Given the description of an element on the screen output the (x, y) to click on. 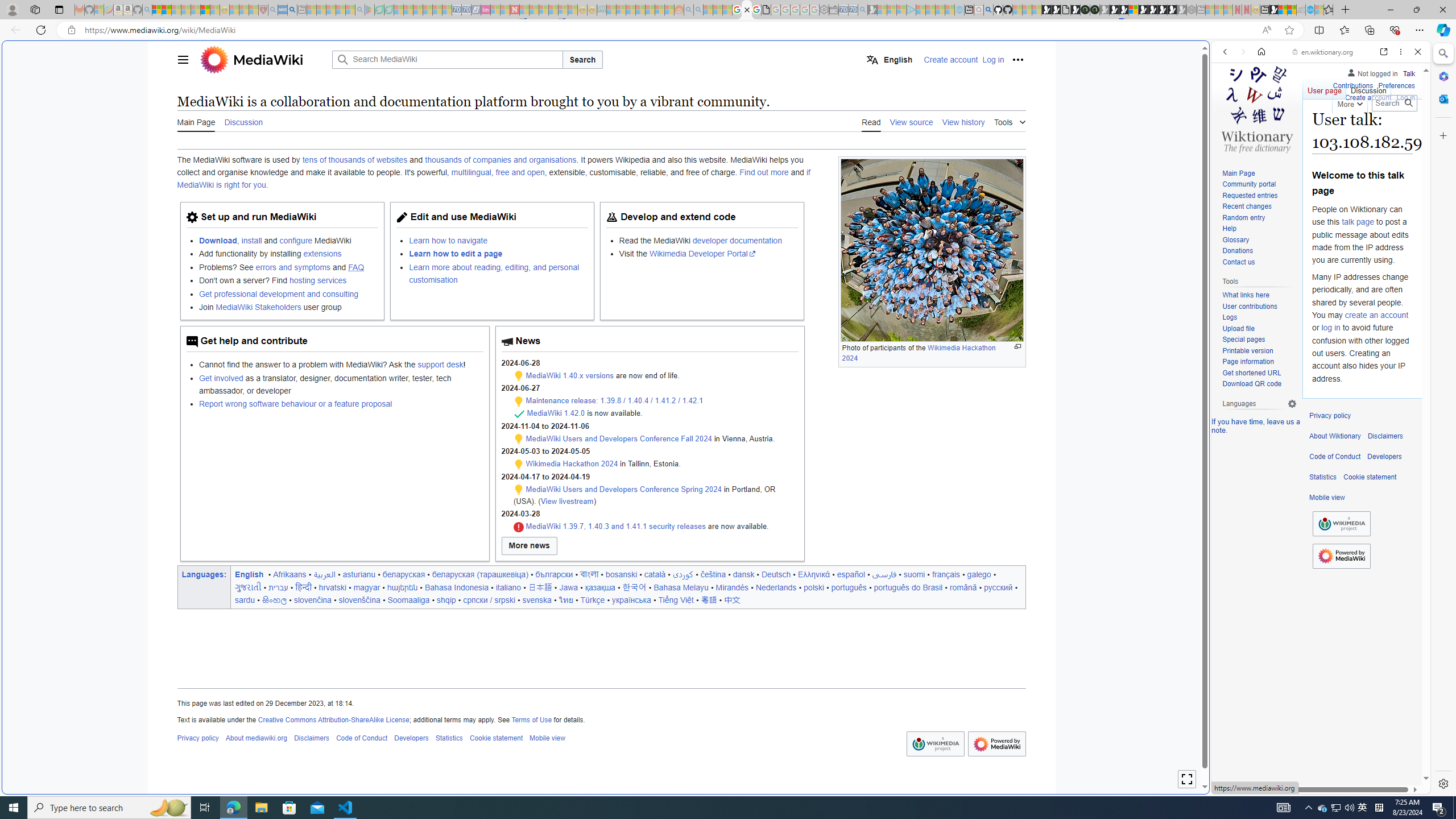
polski (813, 587)
Requested entries (1259, 196)
MediaWiki 1.39.7, 1.40.3 and 1.41.1 security releases (615, 526)
Future Focus Report 2024 (1094, 9)
Report wrong software behaviour or a feature proposal (295, 403)
Mobile view (1326, 497)
tens of thousands of websites (354, 159)
Main menu (182, 59)
More (1349, 101)
Cookie statement (1369, 477)
